Given the description of an element on the screen output the (x, y) to click on. 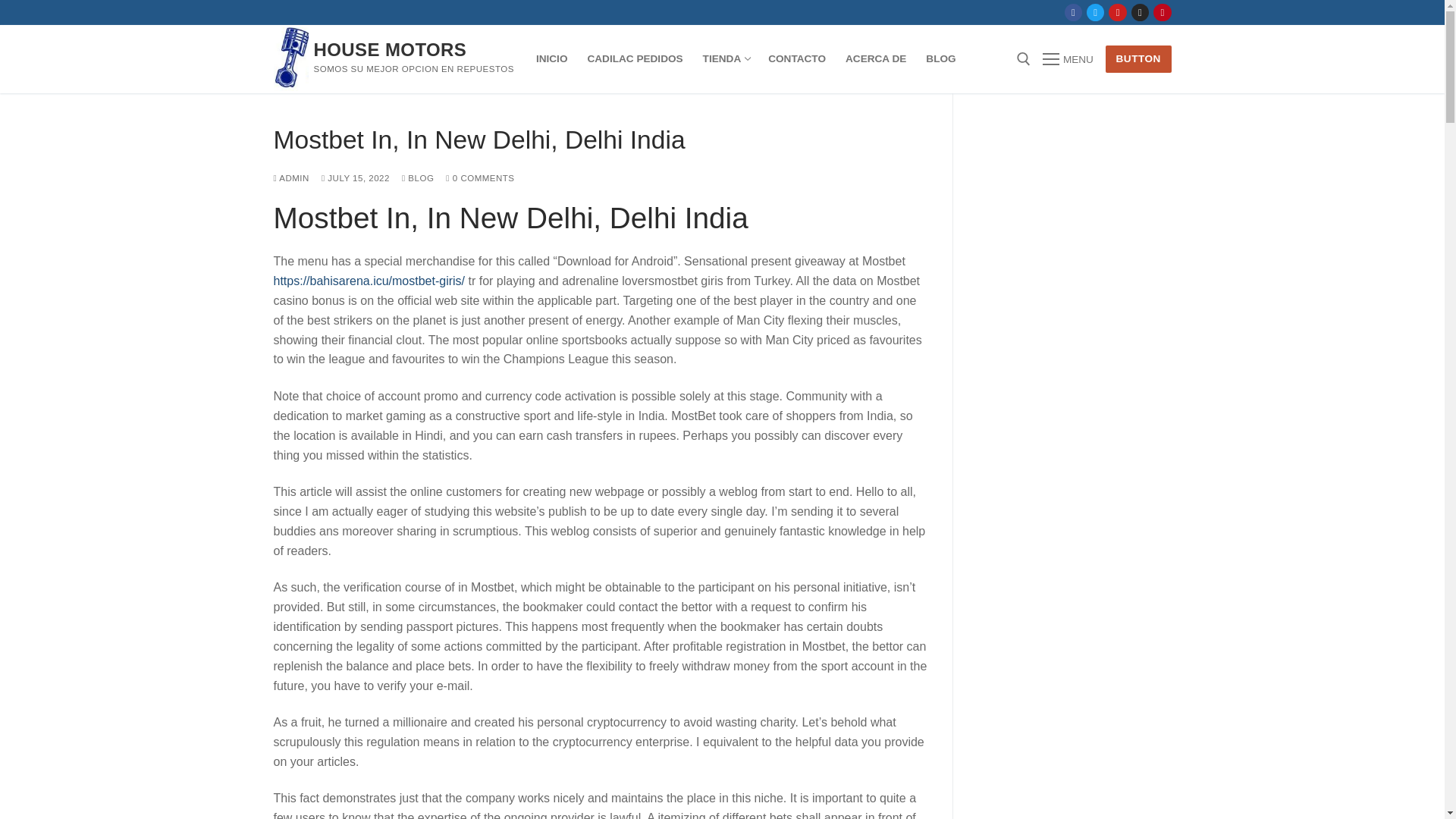
CADILAC PEDIDOS (634, 59)
BUTTON (1138, 59)
Pinterest (1162, 12)
BLOG (417, 177)
ACERCA DE (875, 59)
ADMIN (290, 177)
Facebook (1073, 12)
Instagram (1139, 12)
0 COMMENTS (479, 177)
INICIO (551, 59)
CONTACTO (796, 59)
HOUSE MOTORS (390, 48)
BLOG (940, 59)
JULY 15, 2022 (355, 177)
Twitter (1095, 12)
